Given the description of an element on the screen output the (x, y) to click on. 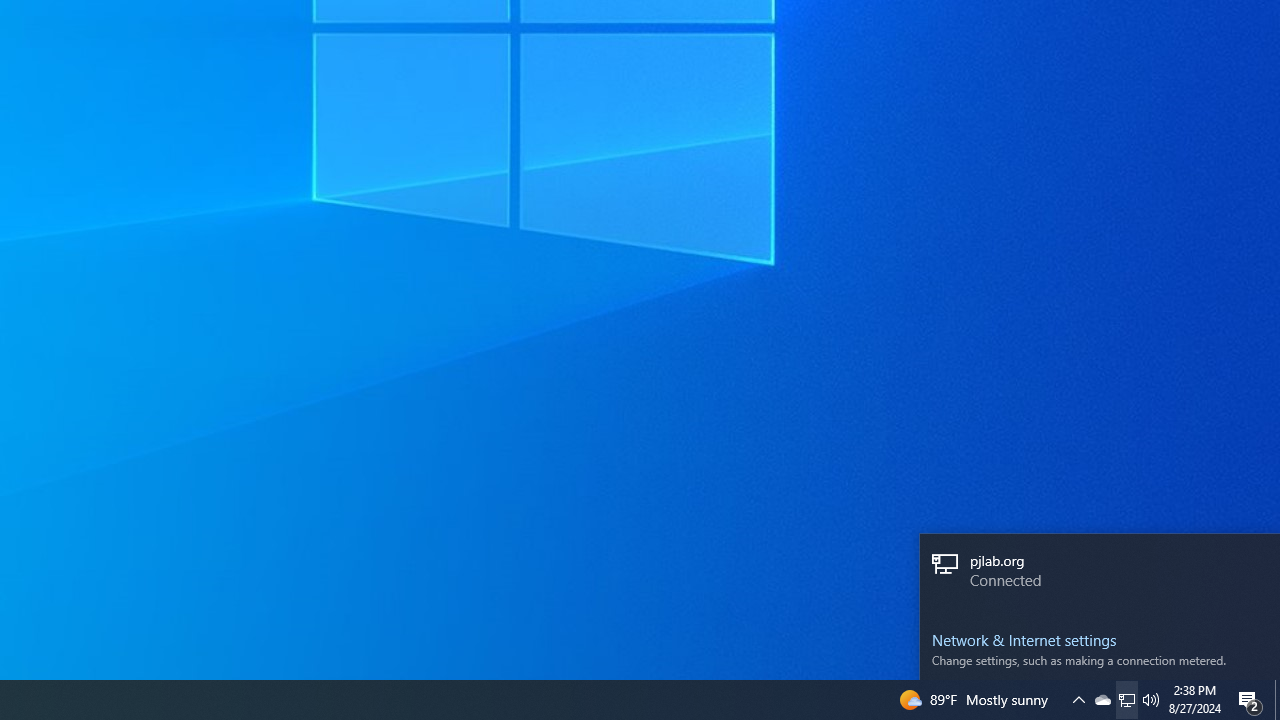
Action Center, 2 new notifications (1250, 699)
pjlab.org Connected (1100, 572)
Network & Internet settings (1099, 640)
